Given the description of an element on the screen output the (x, y) to click on. 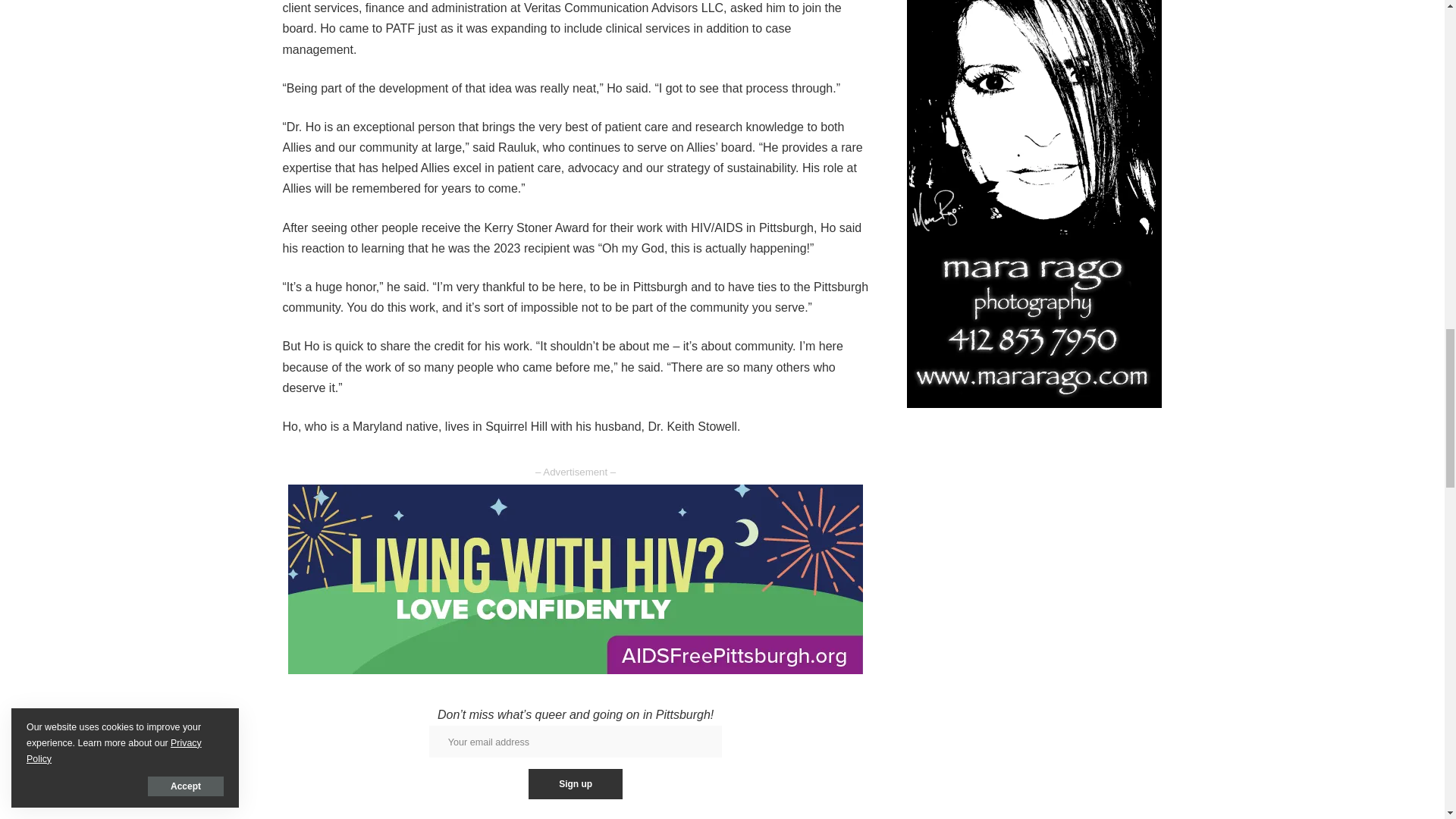
Sign up (575, 784)
